Given the description of an element on the screen output the (x, y) to click on. 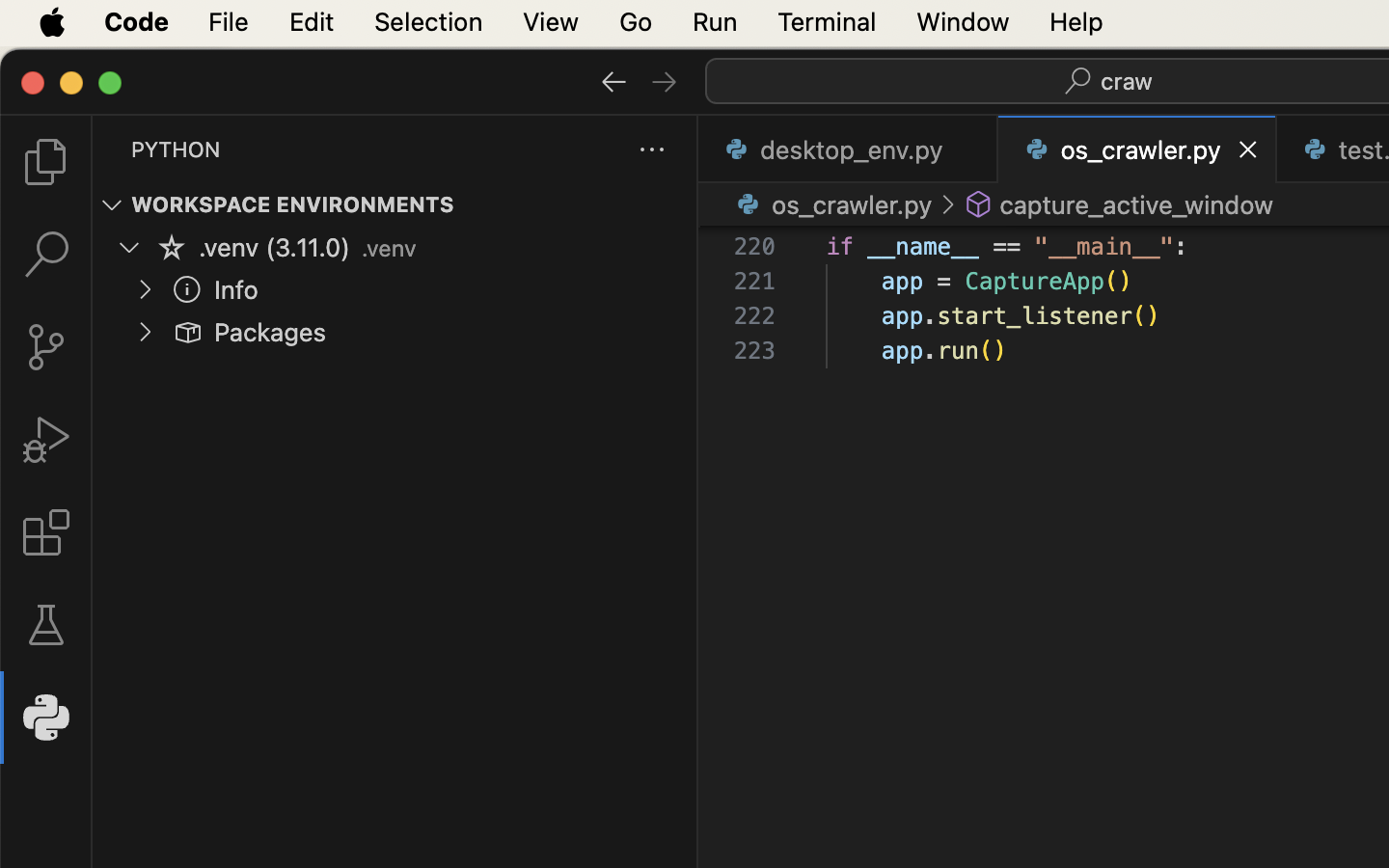
Info Element type: AXStaticText (236, 289)
0  Element type: AXRadioButton (46, 161)
0  Element type: AXRadioButton (46, 532)
PYTHON Element type: AXStaticText (176, 149)
.venv (3.11.0) Element type: AXStaticText (274, 247)
